Given the description of an element on the screen output the (x, y) to click on. 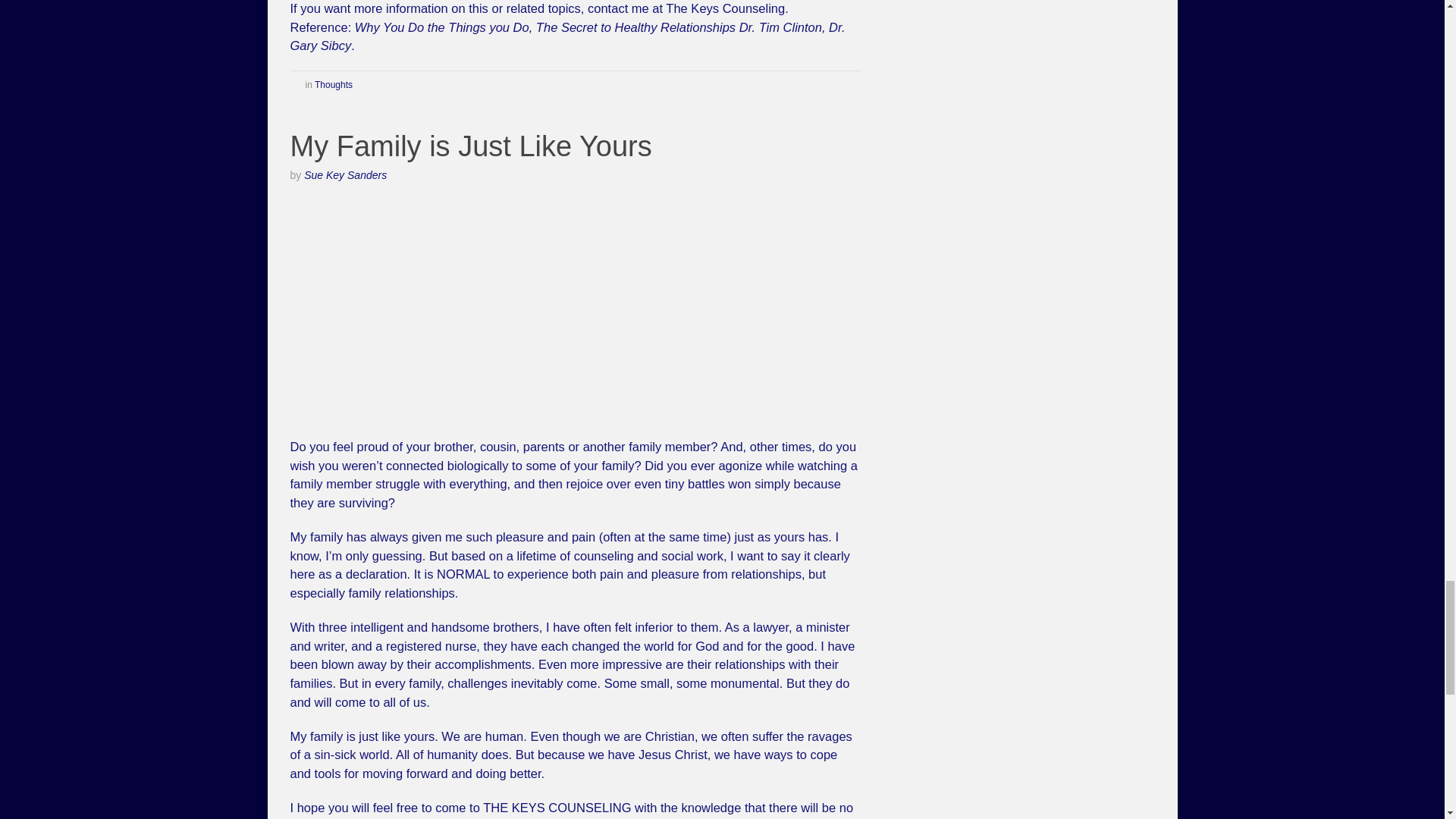
Sue Key Sanders (345, 174)
Posts by Sue Key Sanders (345, 174)
My Family is Just Like Yours (469, 146)
Thoughts (333, 84)
My Family is Just Like Yours (469, 146)
